Given the description of an element on the screen output the (x, y) to click on. 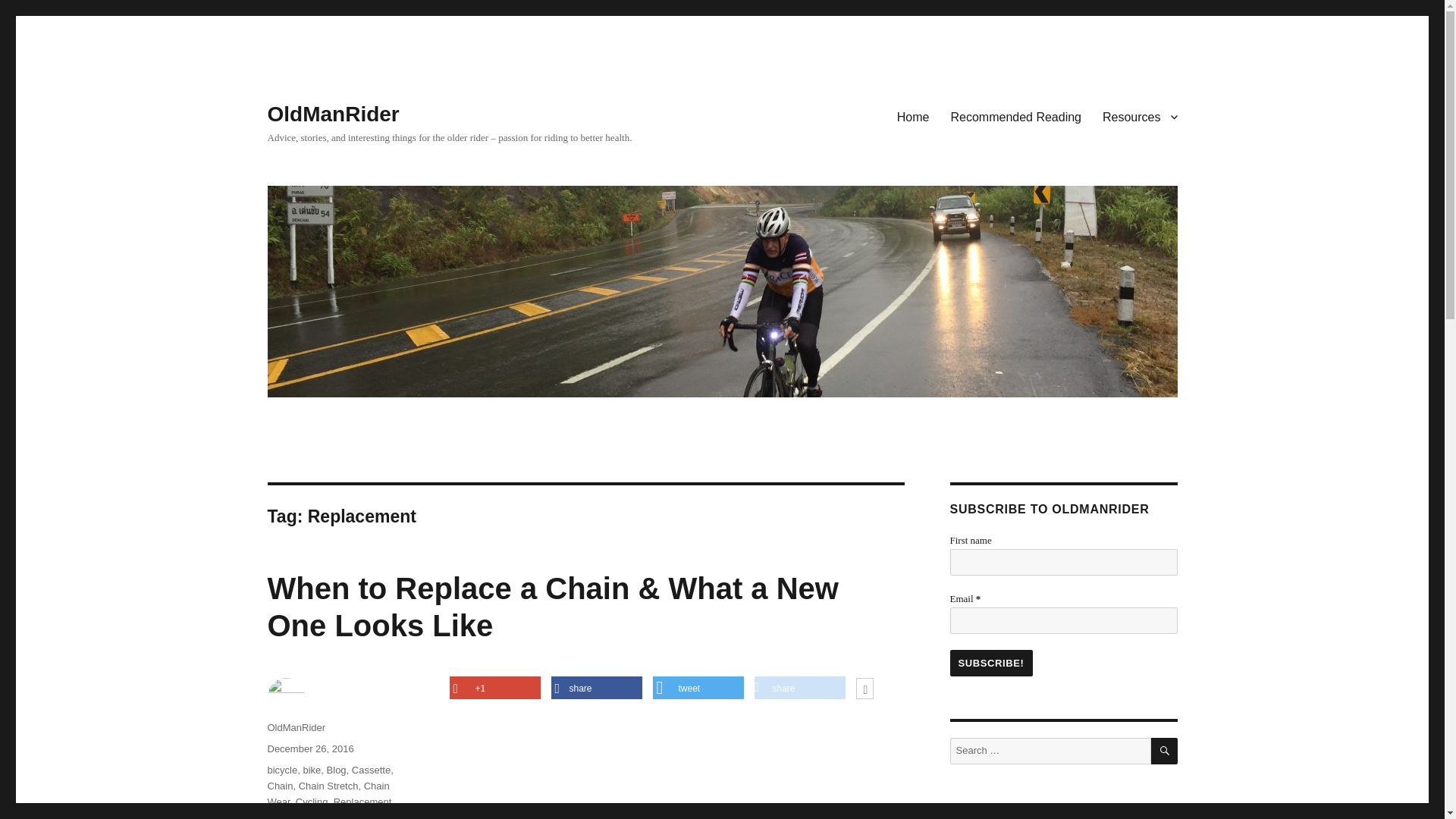
Share on Reddit (799, 688)
Share on Facebook (596, 688)
Chain Wear (327, 793)
Replacement (362, 801)
bicycle (281, 769)
Chain Stretch (328, 785)
bike (311, 769)
Blog (336, 769)
Resources (1140, 116)
road bike (286, 815)
